Given the description of an element on the screen output the (x, y) to click on. 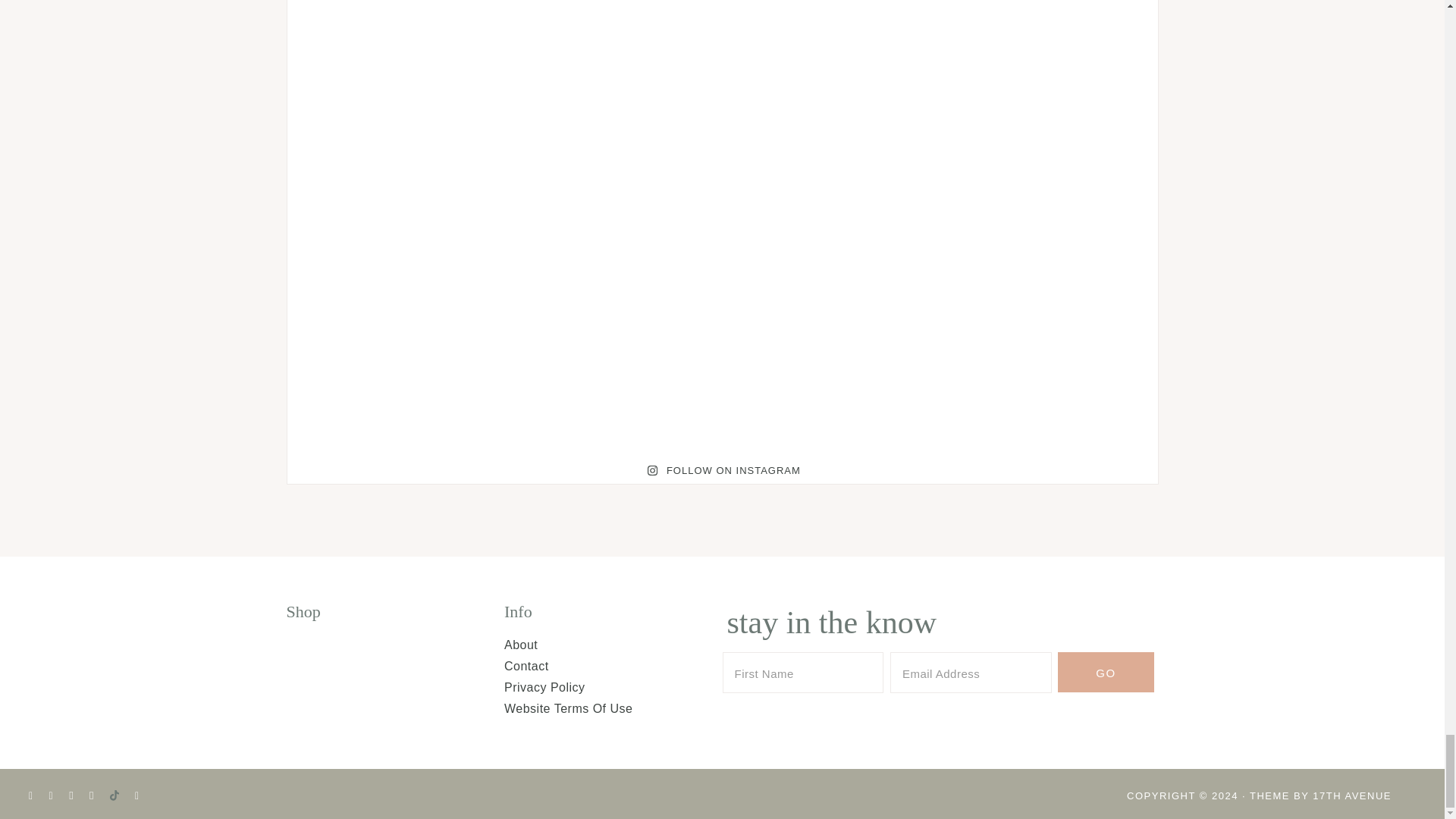
Go (1106, 671)
